Given the description of an element on the screen output the (x, y) to click on. 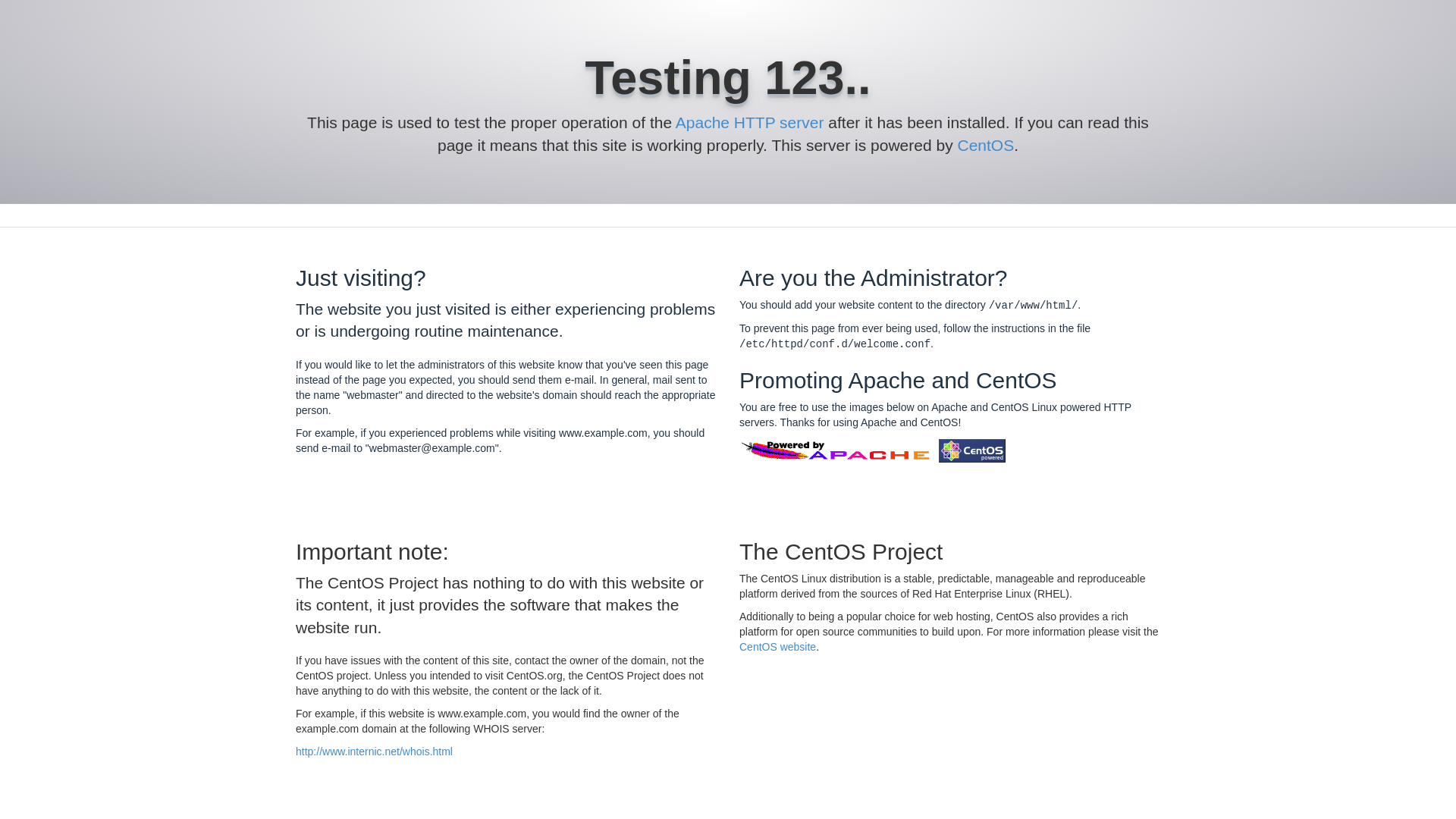
CentOS (984, 144)
Apache HTTP server (749, 122)
CentOS website (777, 646)
